Given the description of an element on the screen output the (x, y) to click on. 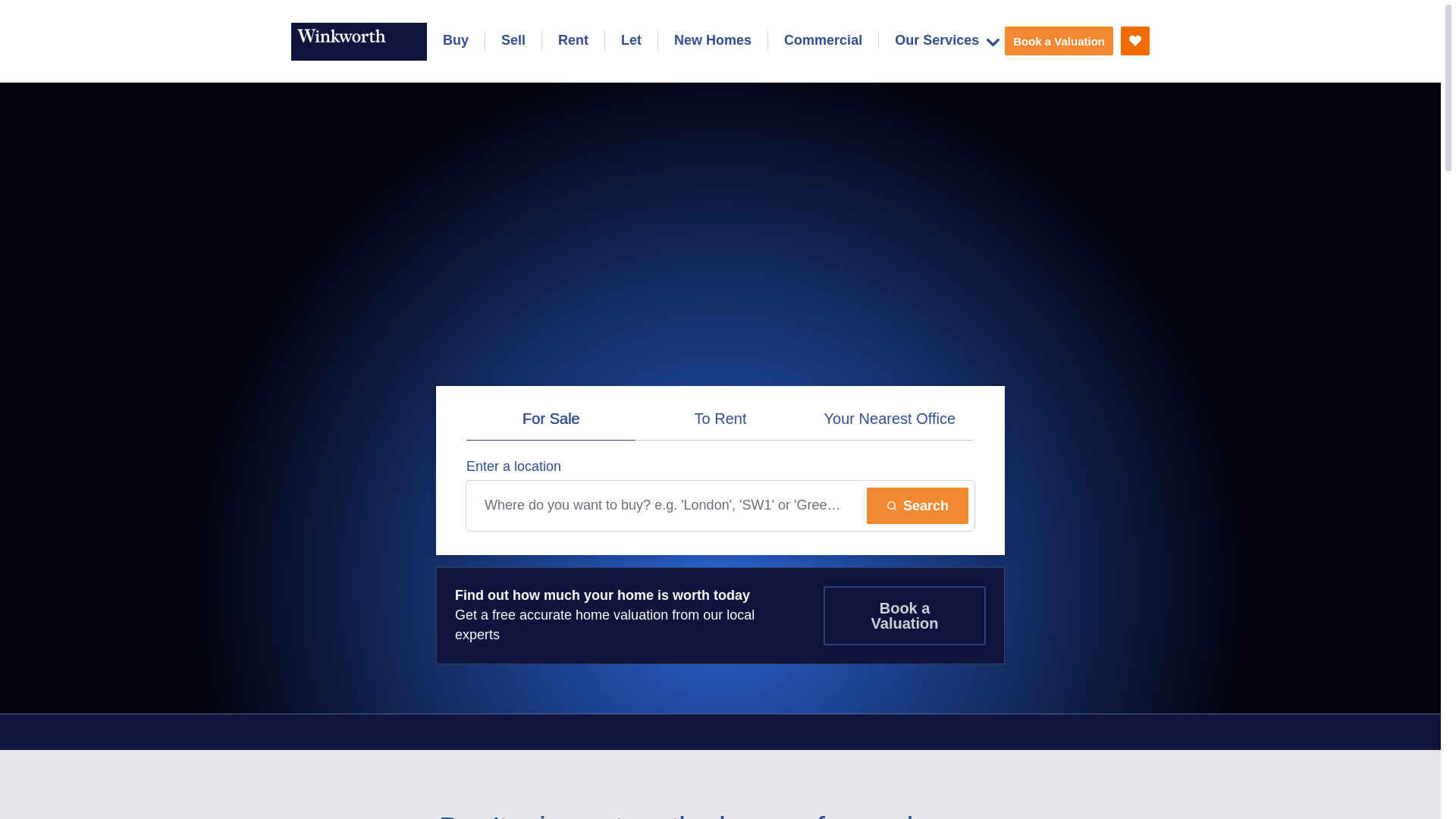
Book a Valuation (1058, 40)
Commercial (822, 40)
Let (631, 40)
Sell (512, 40)
Our Services (946, 40)
Buy (455, 40)
New Homes (712, 40)
Rent (572, 40)
